Given the description of an element on the screen output the (x, y) to click on. 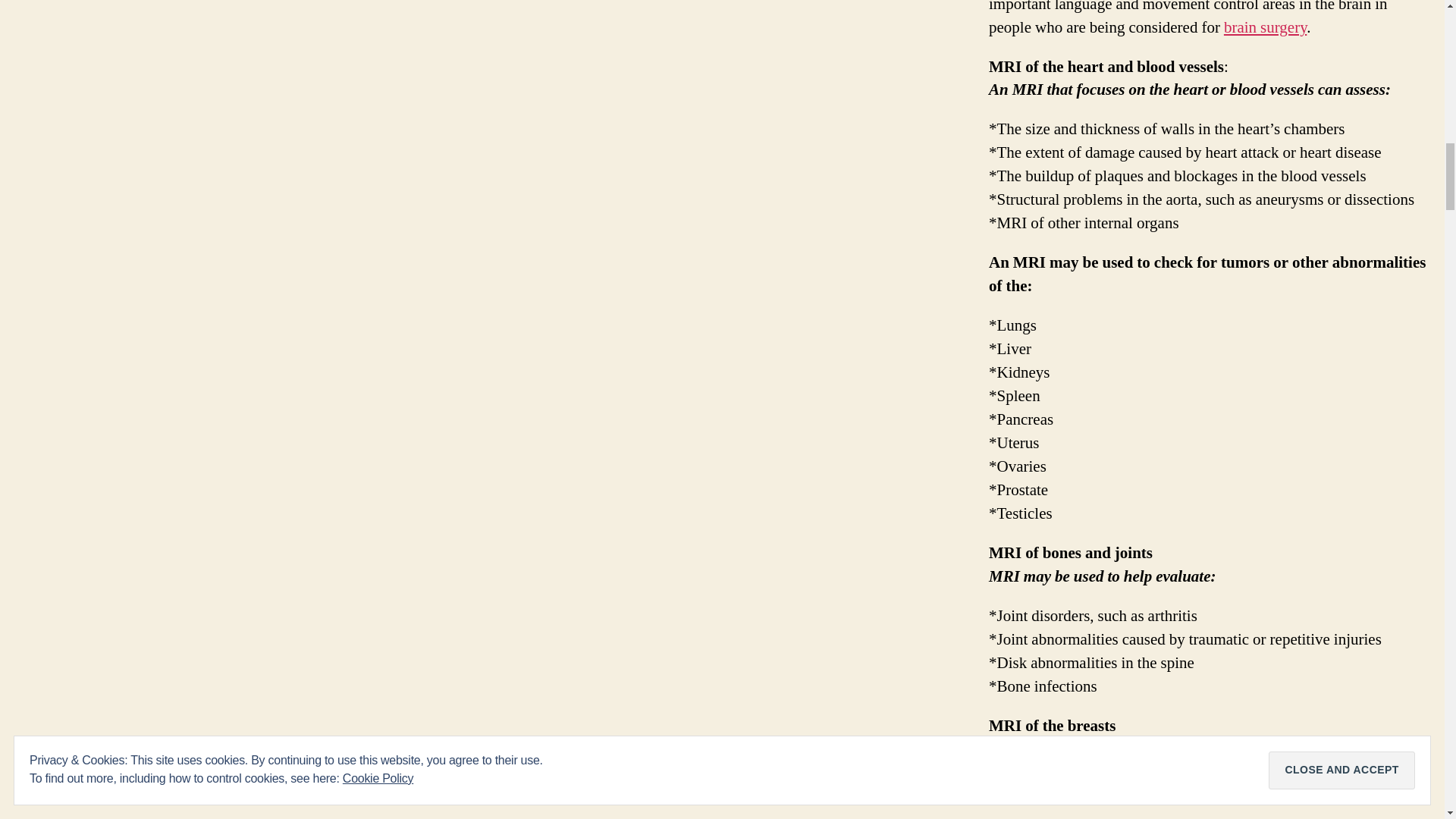
Breast cancer (1189, 760)
Neurosurgery (1265, 27)
brain surgery (1265, 27)
breast cancer (1189, 760)
